Given the description of an element on the screen output the (x, y) to click on. 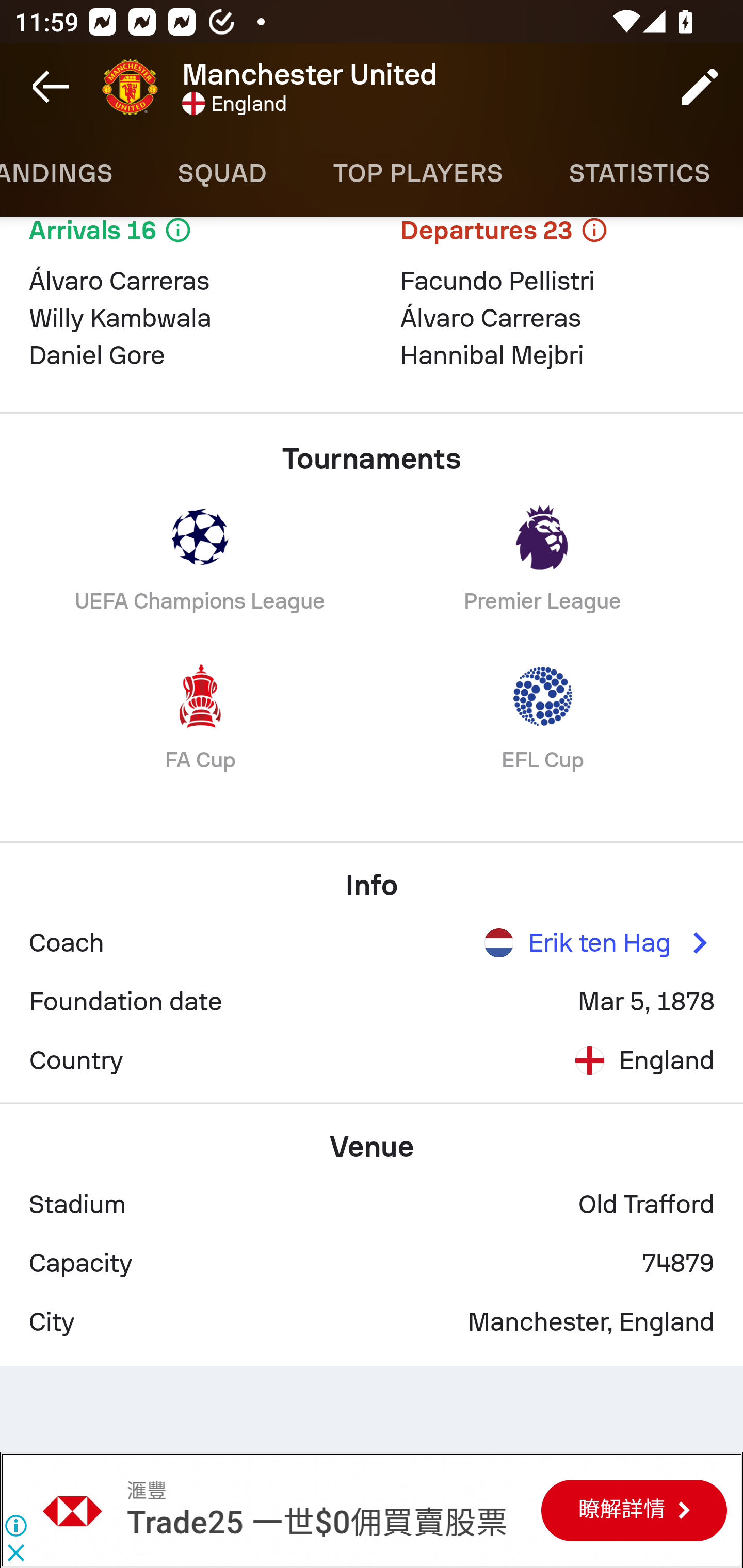
Navigate up (50, 86)
Edit (699, 86)
Standings STANDINGS (72, 173)
Squad SQUAD (222, 173)
Top players TOP PLAYERS (418, 173)
Statistics STATISTICS (639, 173)
Arrivals 16 (185, 241)
Departures 23 (557, 241)
UEFA Champions League (199, 572)
Premier League (542, 572)
FA Cup (199, 732)
EFL Cup (542, 732)
Coach Erik ten Hag (371, 943)
滙豐 (73, 1510)
滙豐 (145, 1491)
瞭解詳情 (634, 1509)
Trade25 一世$0佣買賣股票 (316, 1522)
